Given the description of an element on the screen output the (x, y) to click on. 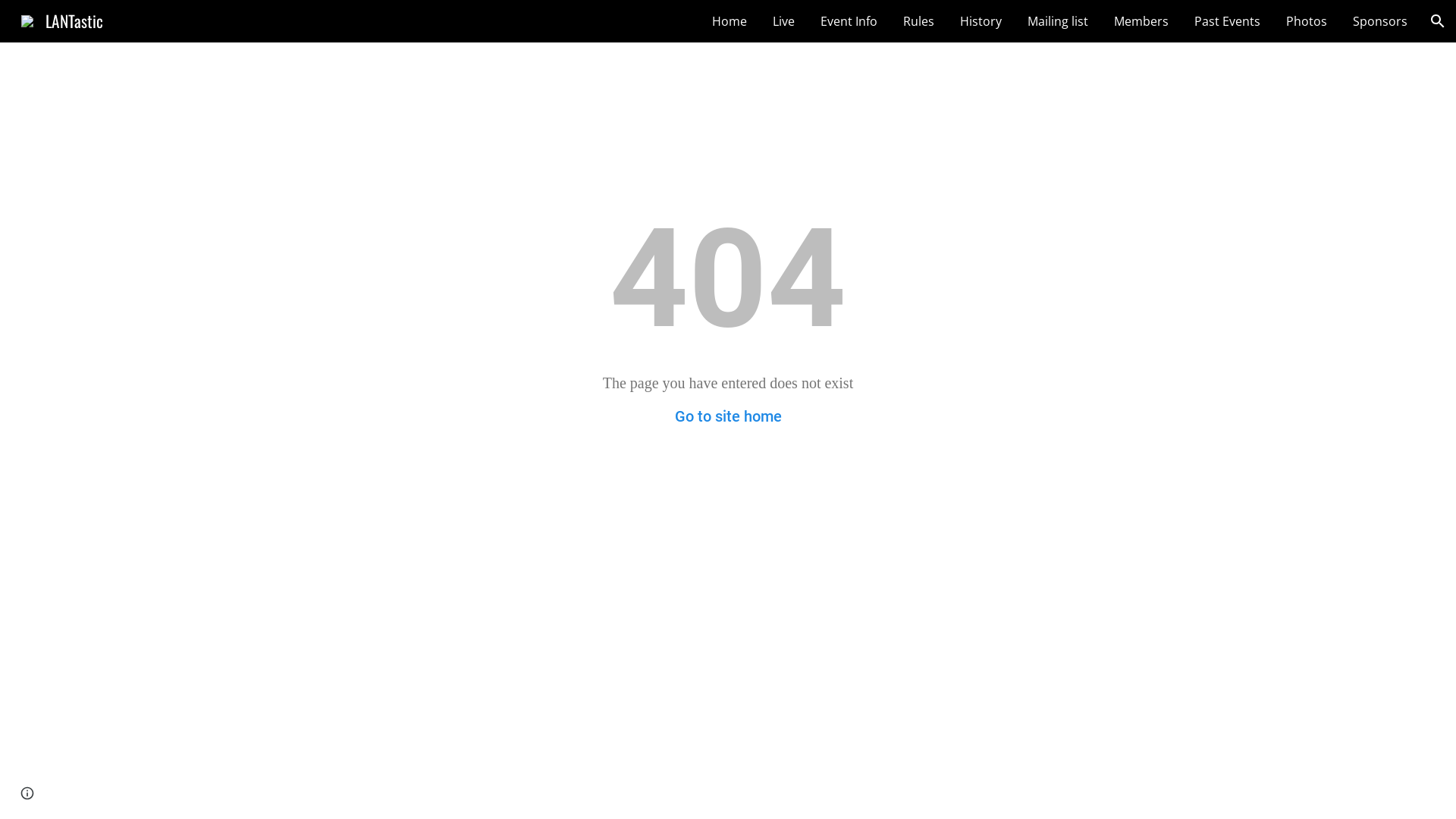
Sponsors Element type: text (1380, 20)
Rules Element type: text (918, 20)
Mailing list Element type: text (1057, 20)
History Element type: text (980, 20)
Members Element type: text (1141, 20)
LANTastic Element type: text (62, 18)
Event Info Element type: text (848, 20)
Go to site home Element type: text (727, 416)
Live Element type: text (783, 20)
Past Events Element type: text (1226, 20)
Home Element type: text (729, 20)
Photos Element type: text (1306, 20)
